Given the description of an element on the screen output the (x, y) to click on. 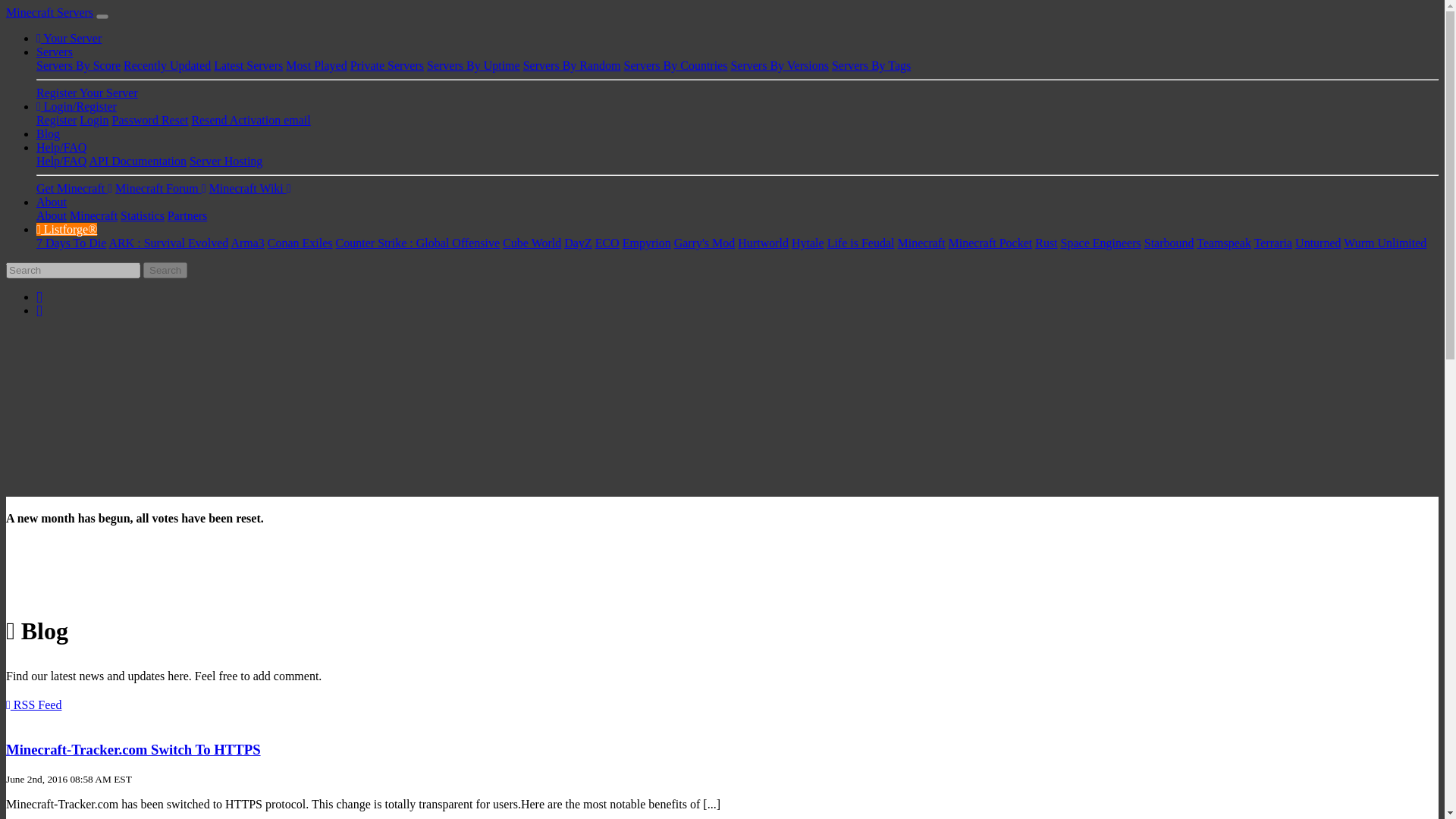
Server Hosting (225, 160)
About (51, 215)
Counter Strike : Global Offensive (418, 242)
Resend Activation email (250, 119)
Recently Updated (167, 65)
Servers By Score (78, 65)
About (51, 201)
Partners (186, 215)
Login (93, 119)
7 Days To Die (71, 242)
